Given the description of an element on the screen output the (x, y) to click on. 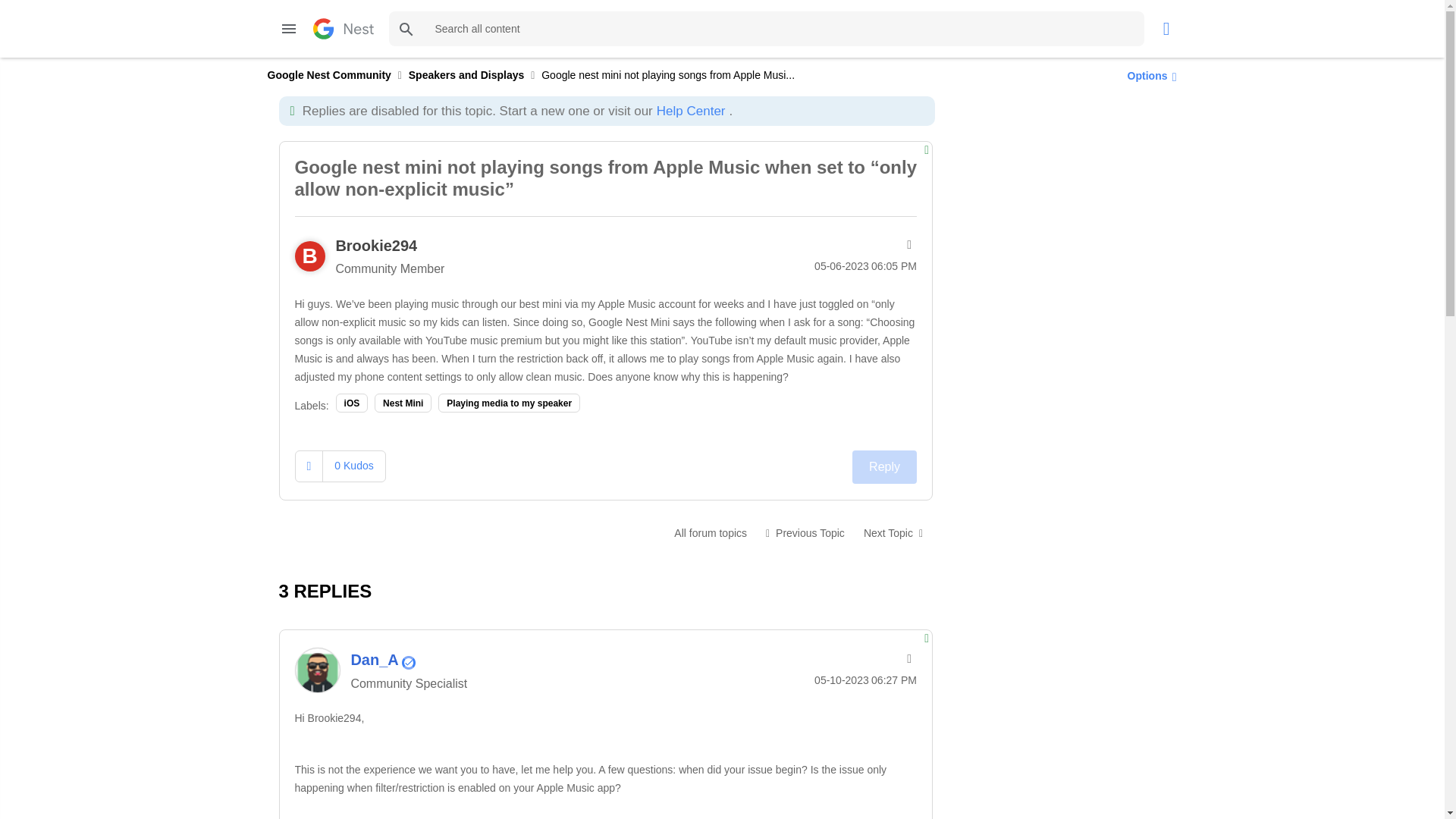
Menu (287, 28)
Google Nest Community (328, 74)
Brookie294 (375, 245)
iOS (352, 402)
Speakers and Displays (710, 532)
Search (765, 28)
Click here to give kudos to this post. (309, 465)
Sleep Sensing menu does not show on Nest Hub gen 2 (893, 532)
Options (1147, 75)
